Given the description of an element on the screen output the (x, y) to click on. 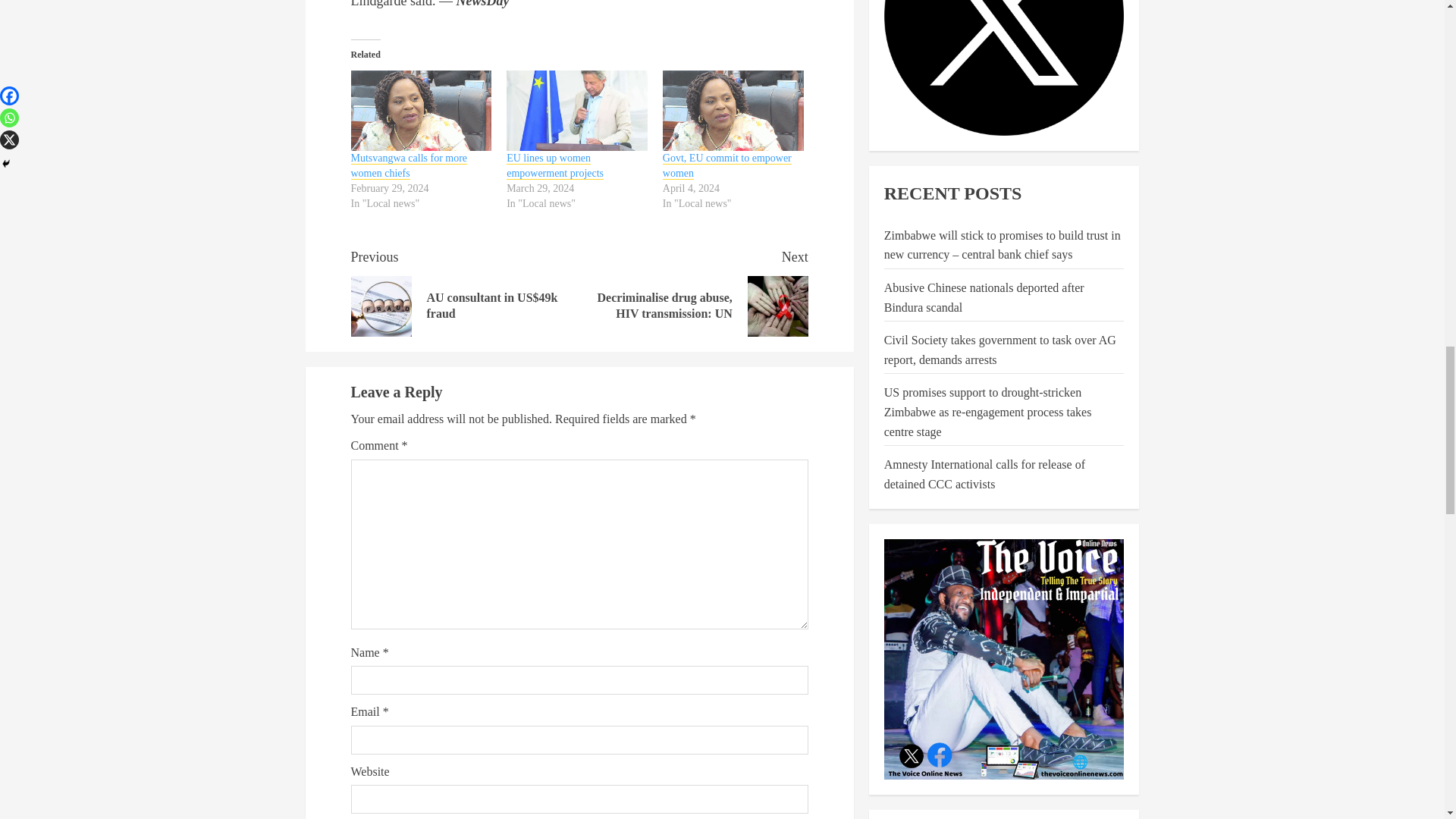
Govt, EU commit to empower women (727, 165)
Mutsvangwa calls for more women chiefs (421, 110)
Govt, EU commit to empower women (727, 165)
Mutsvangwa calls for more women chiefs (408, 165)
Mutsvangwa calls for more women chiefs (693, 291)
Govt, EU commit to empower women (408, 165)
EU lines up women empowerment projects (732, 110)
EU lines up women empowerment projects (555, 165)
EU lines up women empowerment projects (555, 165)
